Given the description of an element on the screen output the (x, y) to click on. 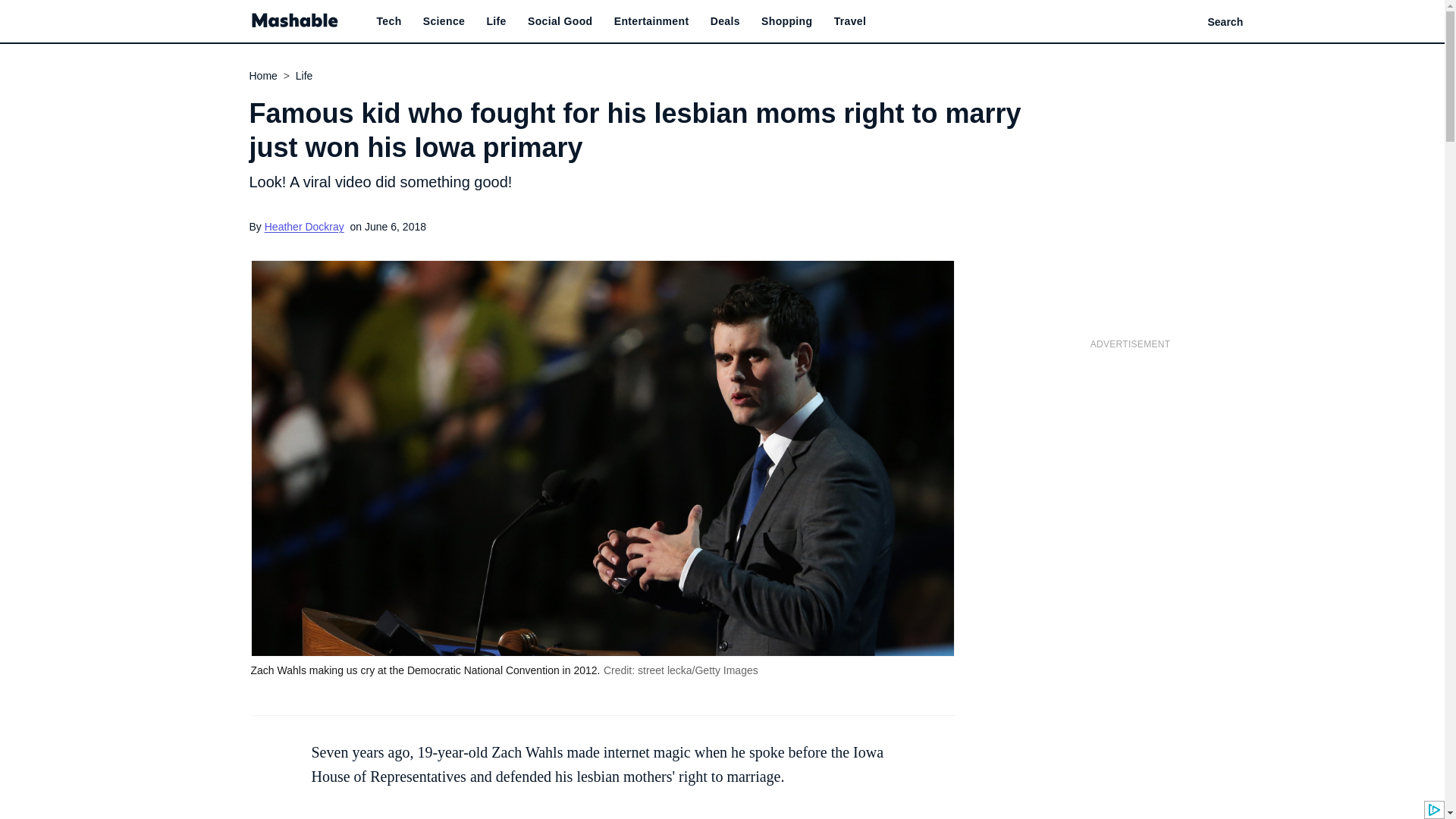
Social Good (559, 21)
Life (495, 21)
Tech (388, 21)
Travel (850, 21)
Entertainment (651, 21)
Science (443, 21)
Shopping (786, 21)
Deals (724, 21)
